Given the description of an element on the screen output the (x, y) to click on. 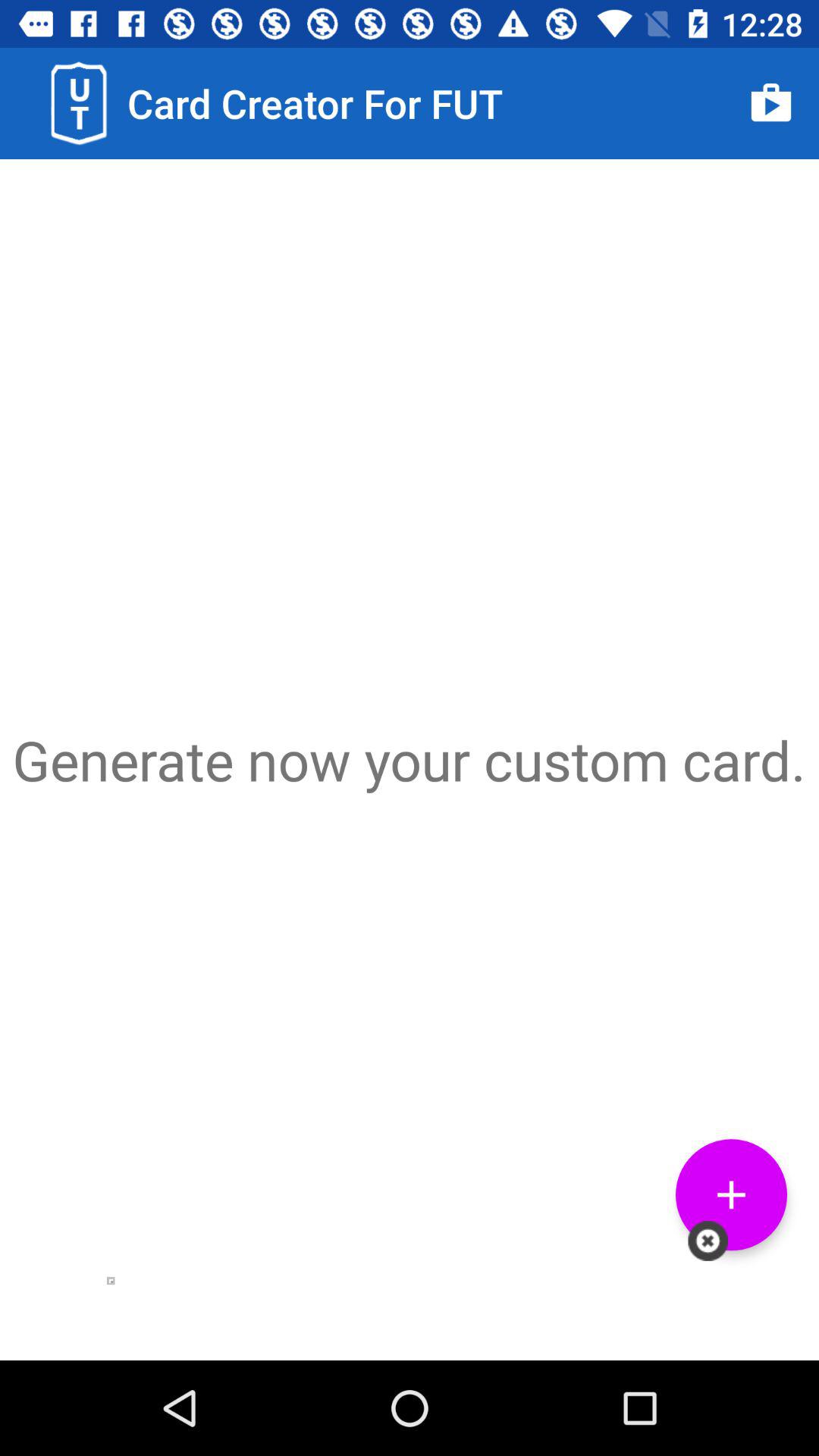
choose icon below the generate now your item (708, 1240)
